Given the description of an element on the screen output the (x, y) to click on. 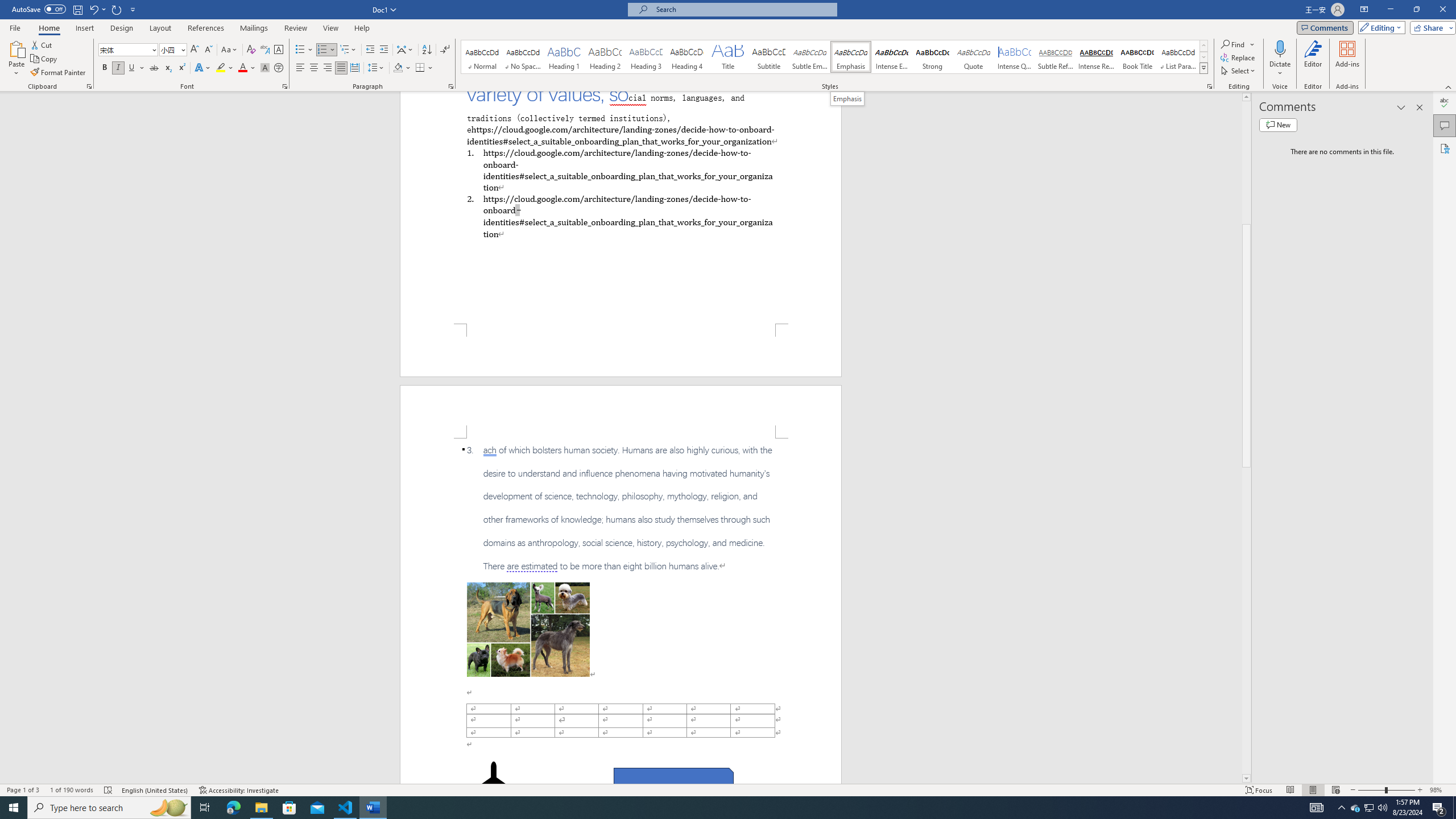
Subtle Reference (1055, 56)
Font Color Automatic (241, 67)
Footer -Section 1- (620, 349)
